Given the description of an element on the screen output the (x, y) to click on. 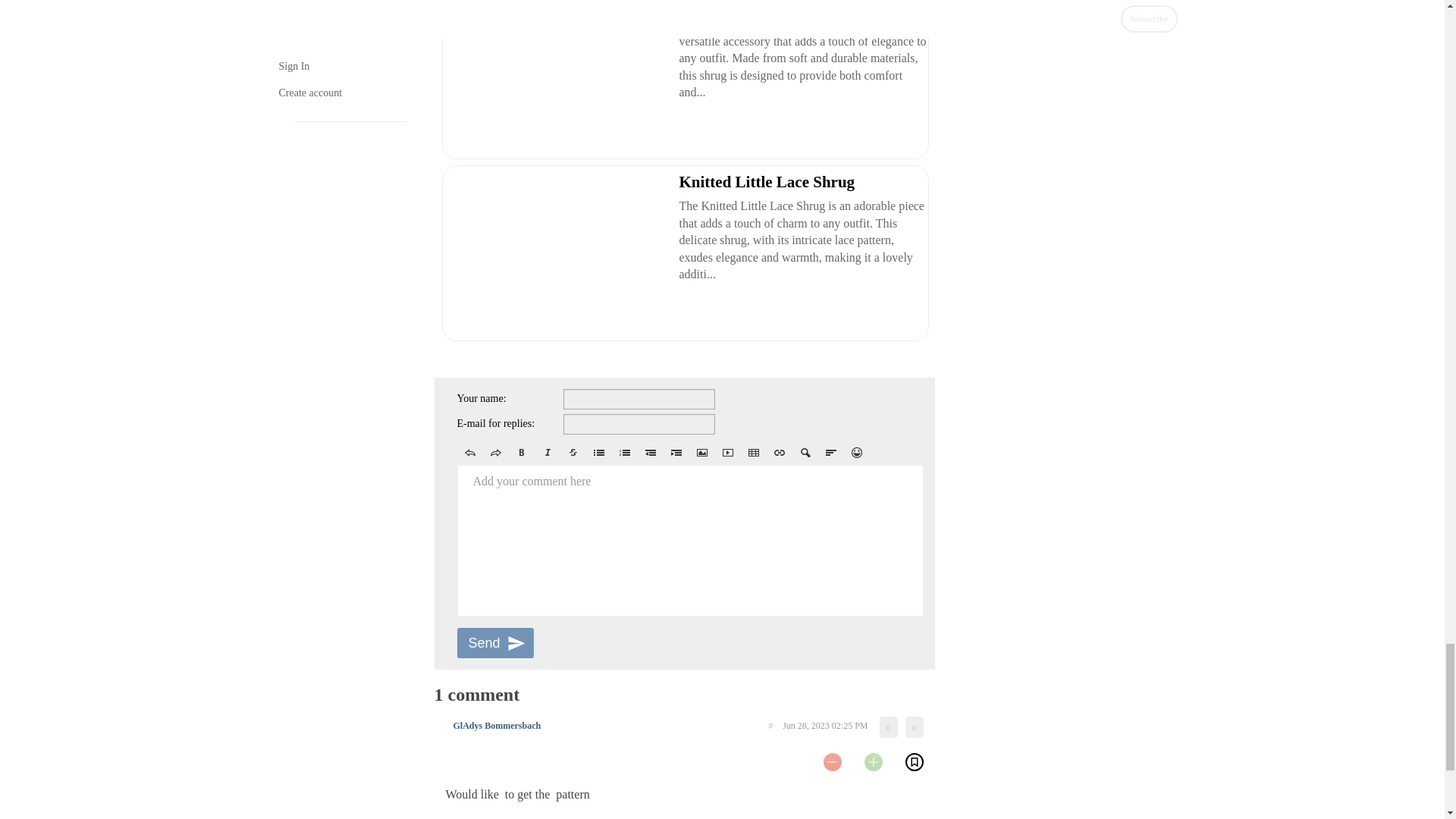
Link (778, 452)
Table (752, 452)
Insert Image (701, 452)
Insert Video (726, 452)
Deleted (572, 452)
Italic (546, 452)
Send (494, 643)
Bold (521, 452)
